Given the description of an element on the screen output the (x, y) to click on. 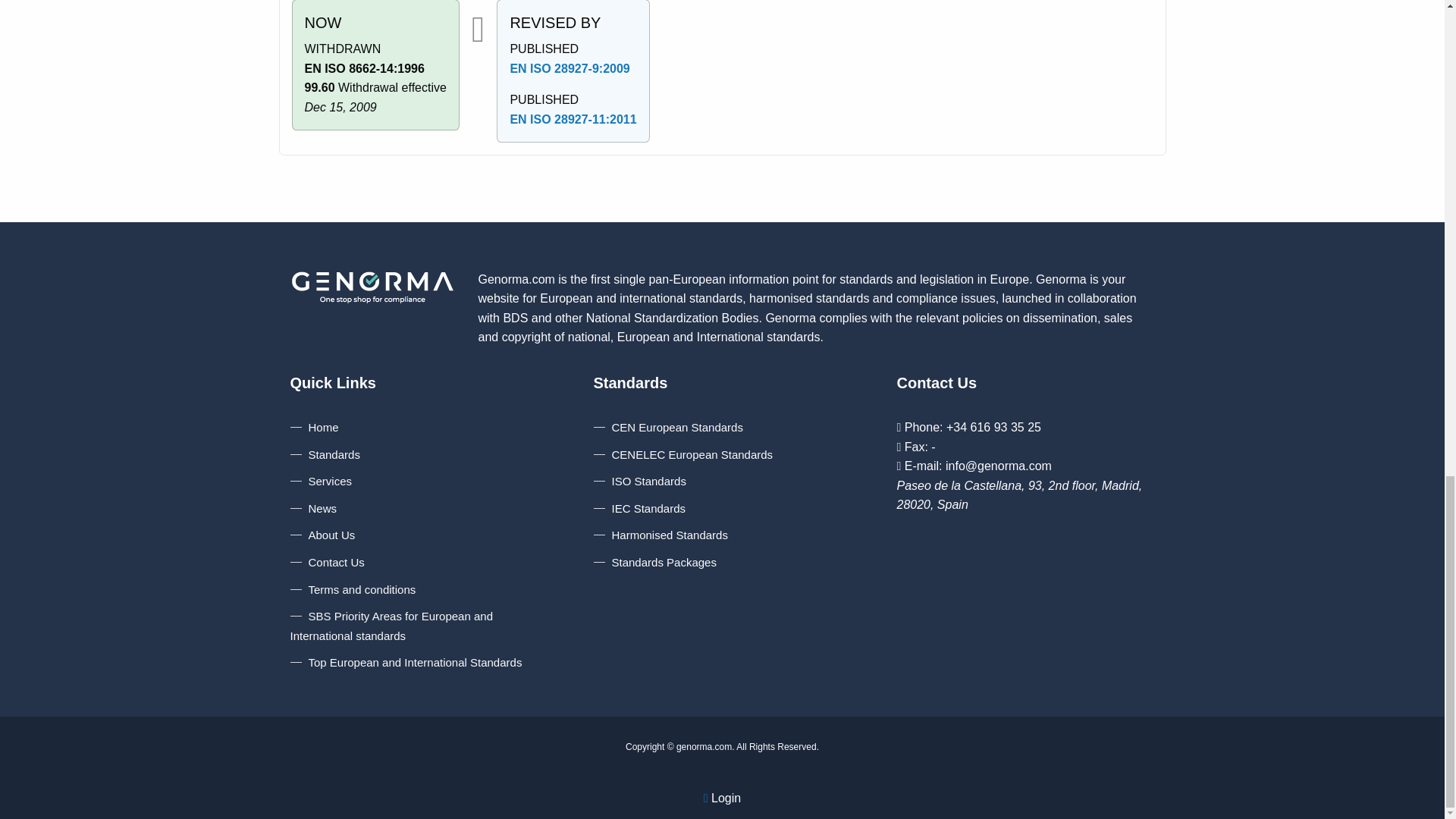
EN ISO 28927-11:2011 (572, 119)
EN ISO 28927-9:2009 (568, 68)
Standards (324, 454)
Home (314, 427)
